Given the description of an element on the screen output the (x, y) to click on. 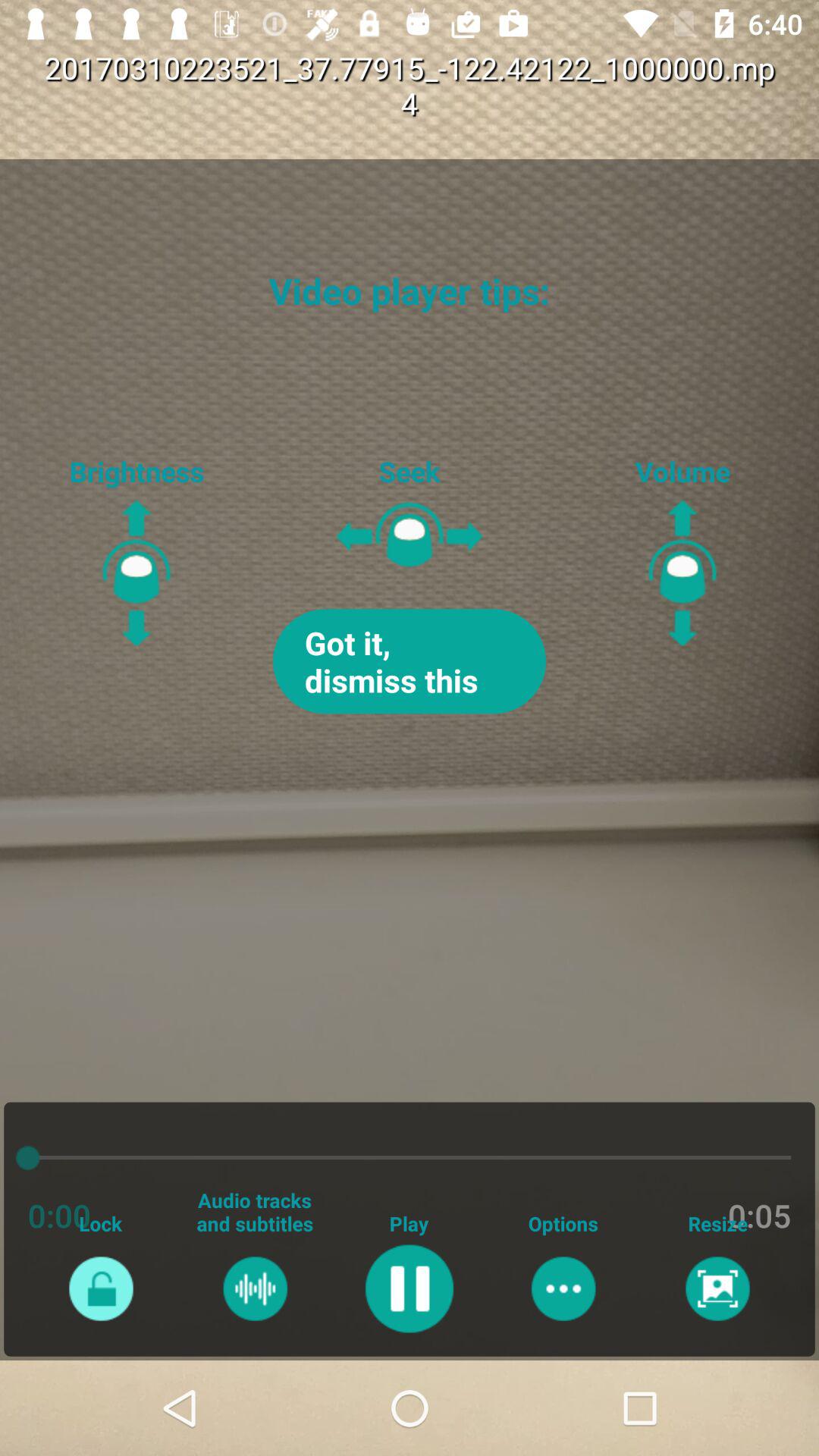
display options menu (563, 1288)
